Given the description of an element on the screen output the (x, y) to click on. 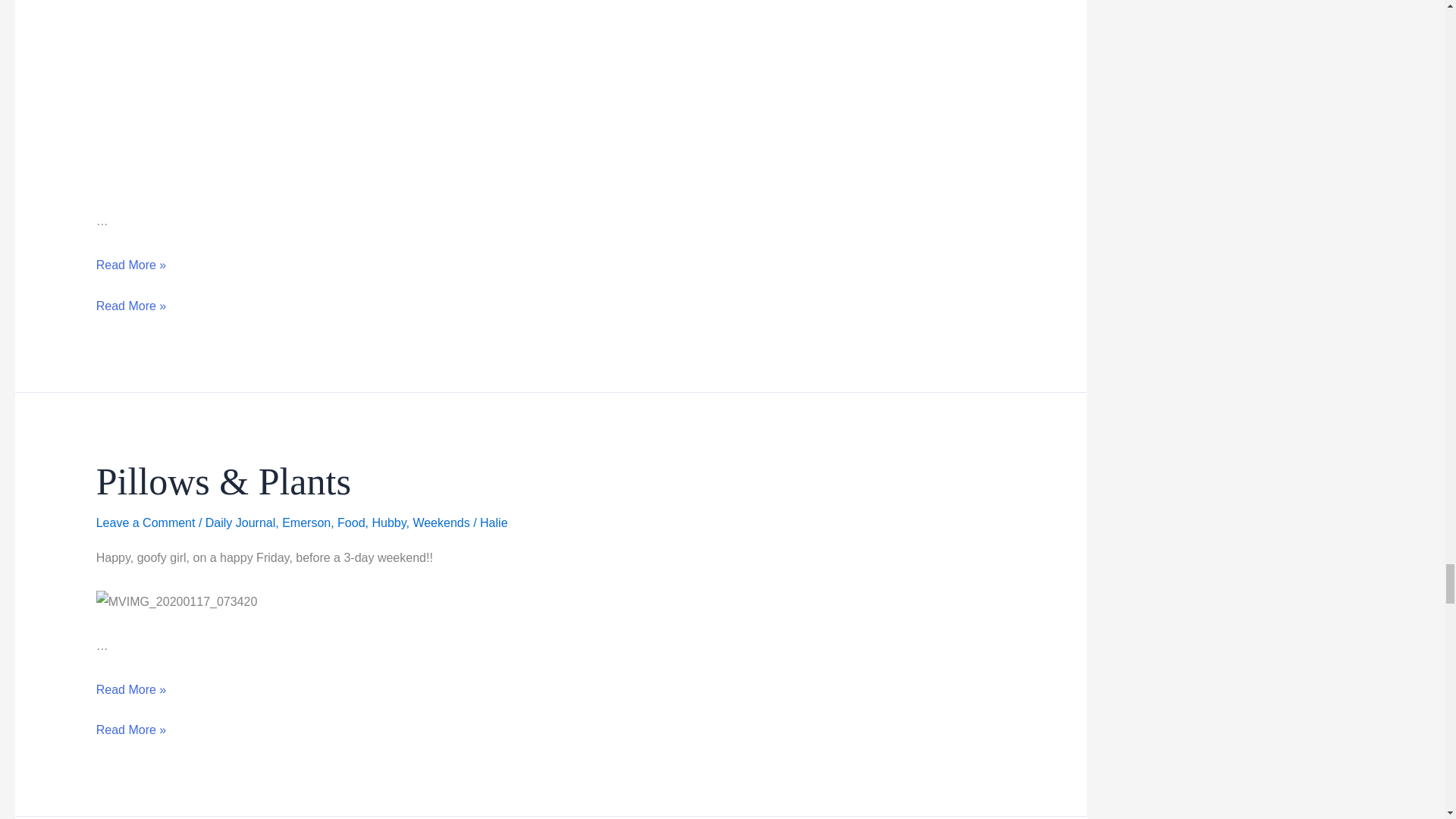
View all posts by Halie (493, 522)
